Given the description of an element on the screen output the (x, y) to click on. 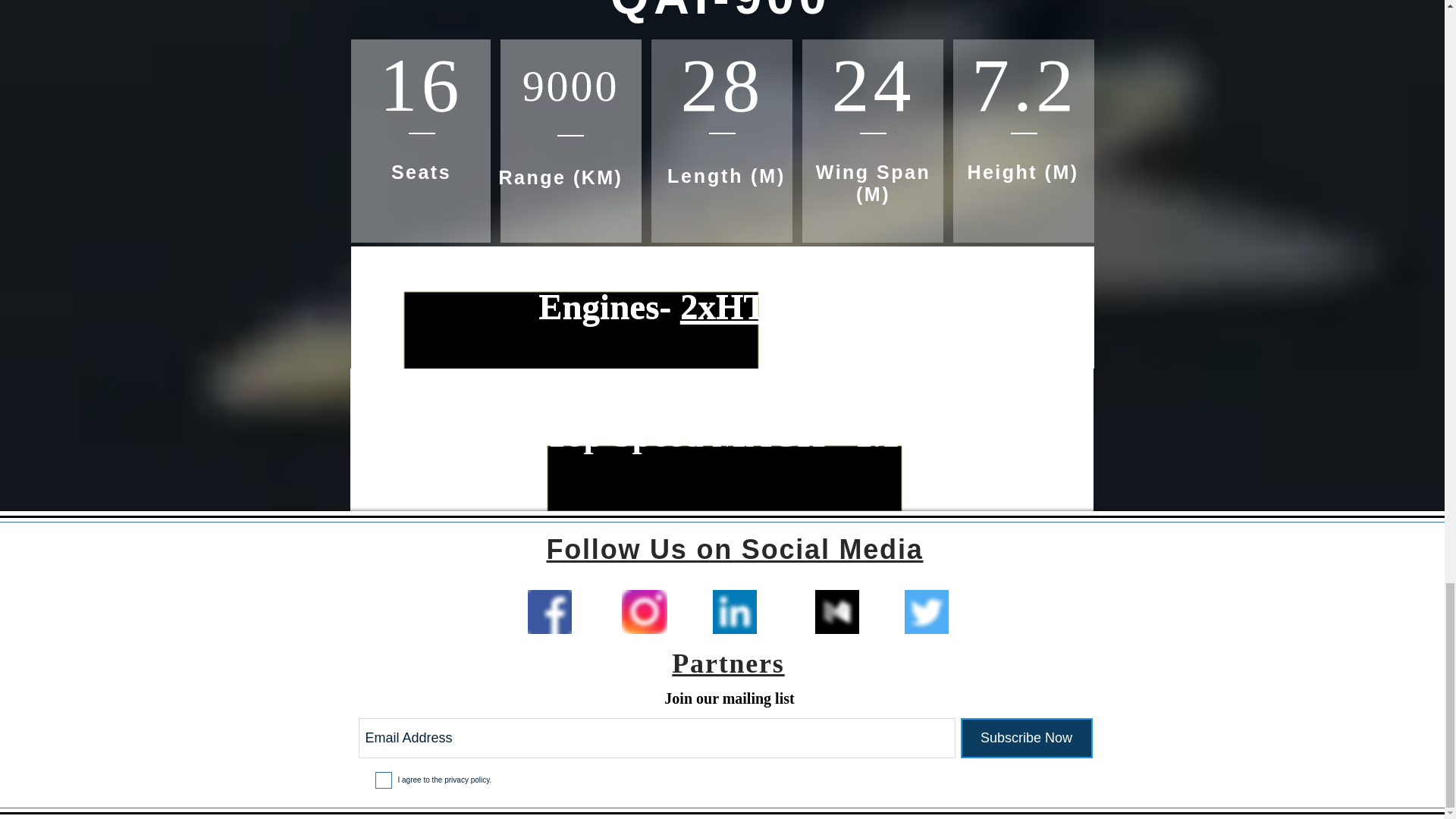
Partners (727, 663)
Subscribe Now (1025, 738)
